Given the description of an element on the screen output the (x, y) to click on. 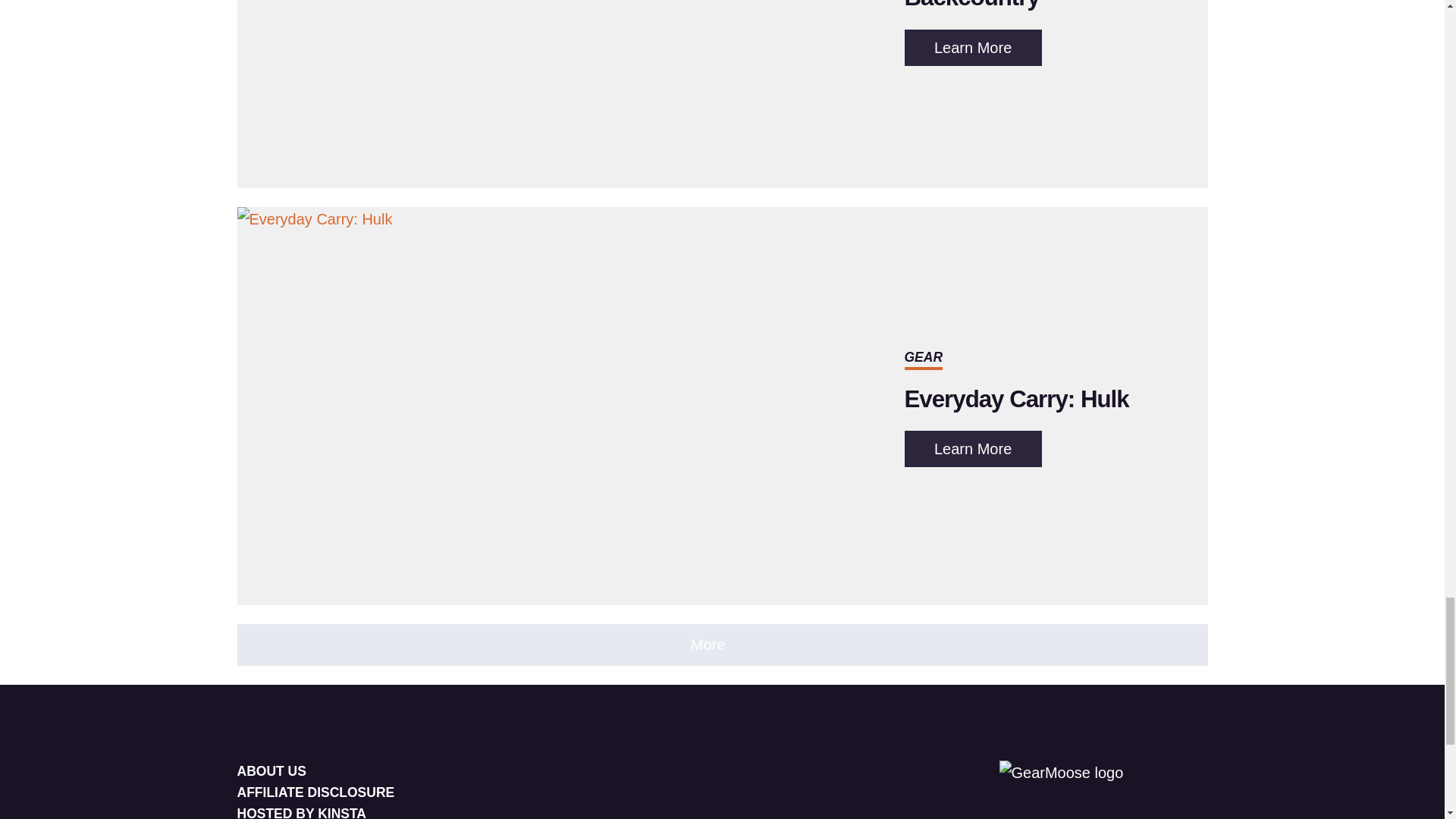
Everyday Carry: Hulk (1016, 398)
Everyday Carry: Backcountry (989, 5)
GEAR (923, 356)
More (972, 47)
